Given the description of an element on the screen output the (x, y) to click on. 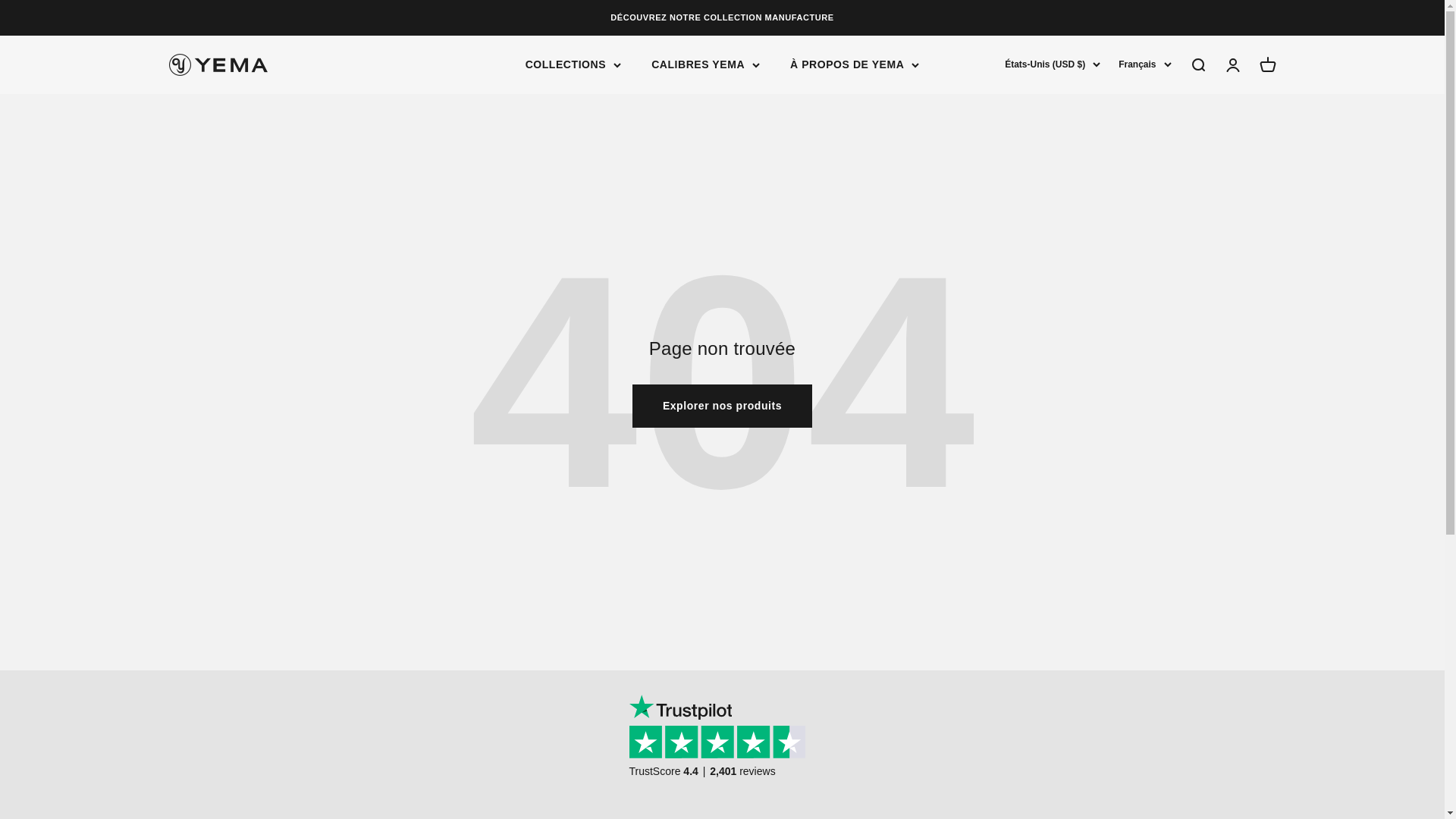
Yema Watches (217, 65)
Customer reviews powered by Trustpilot (721, 748)
